Given the description of an element on the screen output the (x, y) to click on. 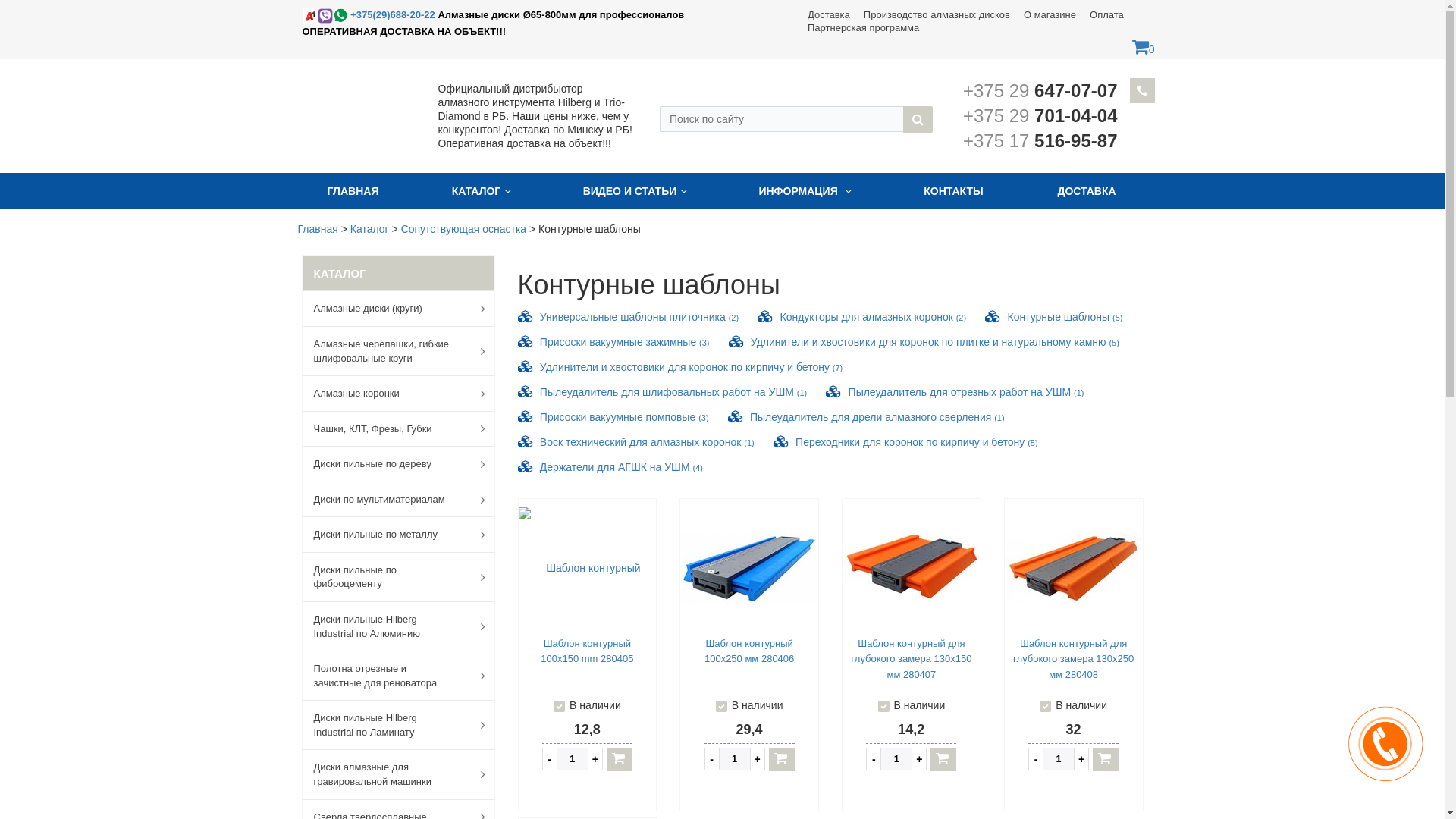
Trio-Daimond Element type: hover (324, 15)
0 Element type: text (1143, 49)
Trio-Daimond Element type: hover (339, 14)
+375(29)688-20-22 Element type: text (369, 14)
Trio-Daimond Element type: hover (308, 15)
